Given the description of an element on the screen output the (x, y) to click on. 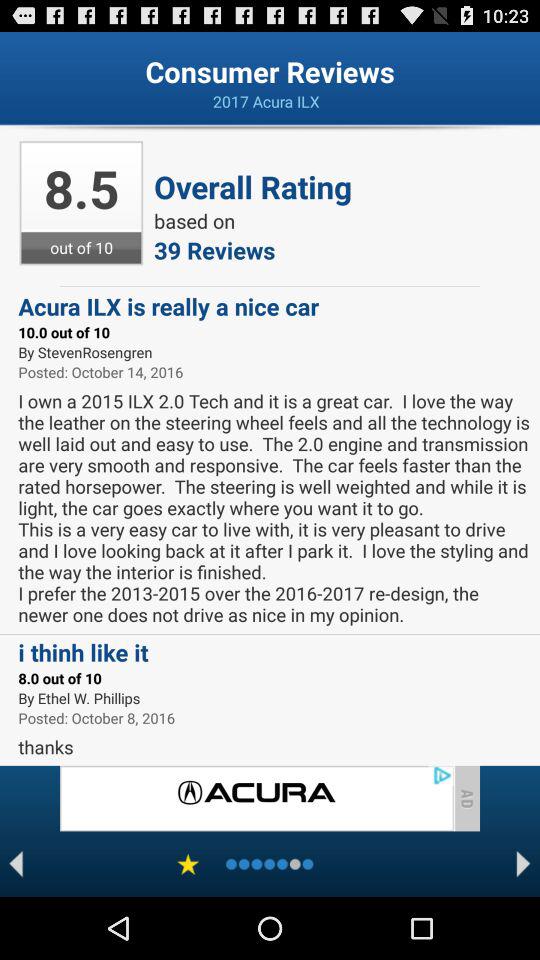
this option advertisement (256, 798)
